Given the description of an element on the screen output the (x, y) to click on. 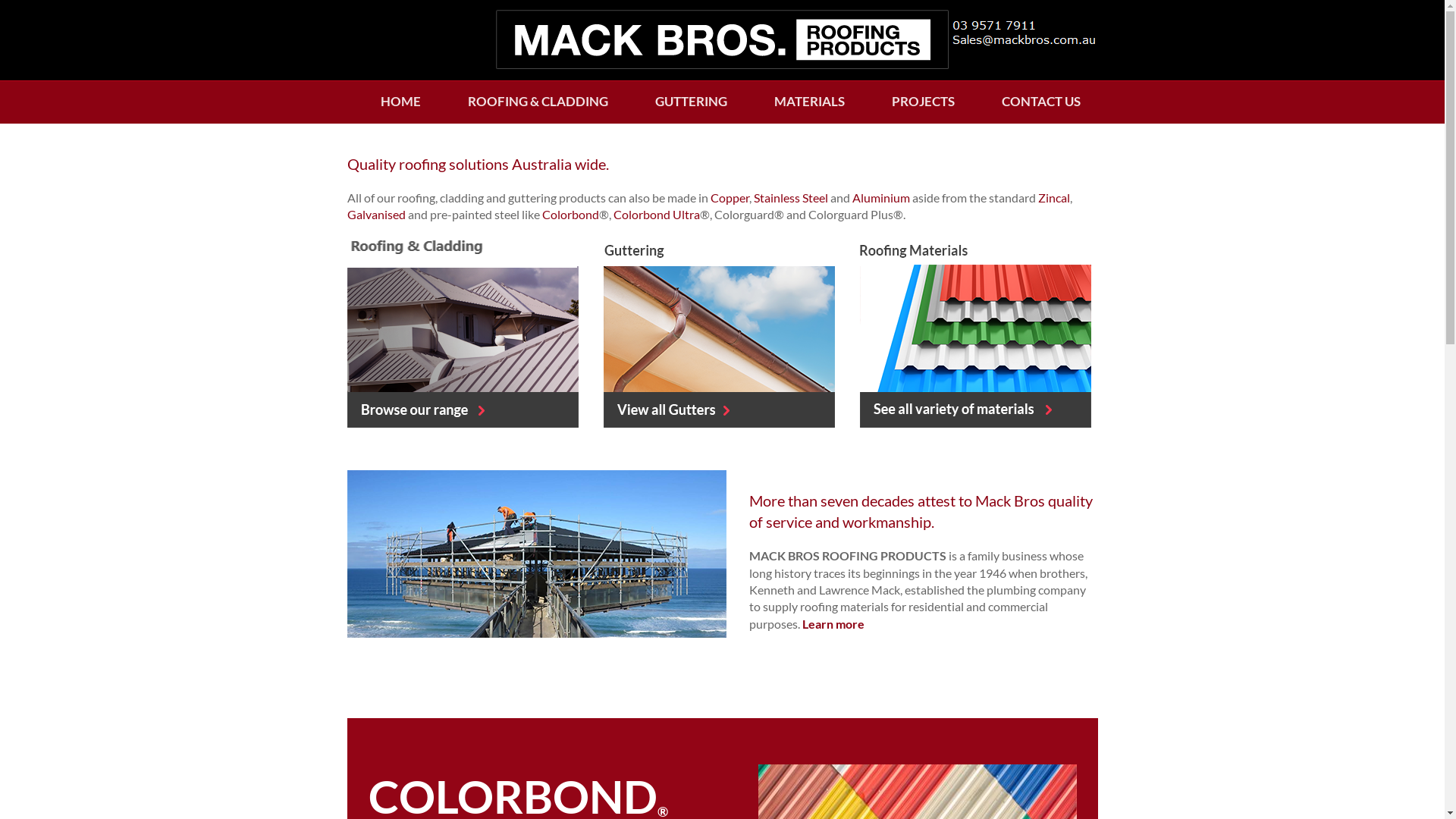
Stainless Steel Element type: text (790, 197)
Colorbond Element type: text (569, 214)
Galvanised Element type: text (376, 214)
PROJECTS Element type: text (922, 101)
Aluminium Element type: text (881, 197)
ROOFING & CLADDING Element type: text (537, 101)
GUTTERING Element type: text (689, 101)
Colorbond Ultra Element type: text (655, 214)
Copper Element type: text (728, 197)
Learn more Element type: text (833, 623)
CONTACT US Element type: text (1041, 101)
MATERIALS Element type: text (809, 101)
HOME Element type: text (399, 101)
Zincal Element type: text (1053, 197)
